Given the description of an element on the screen output the (x, y) to click on. 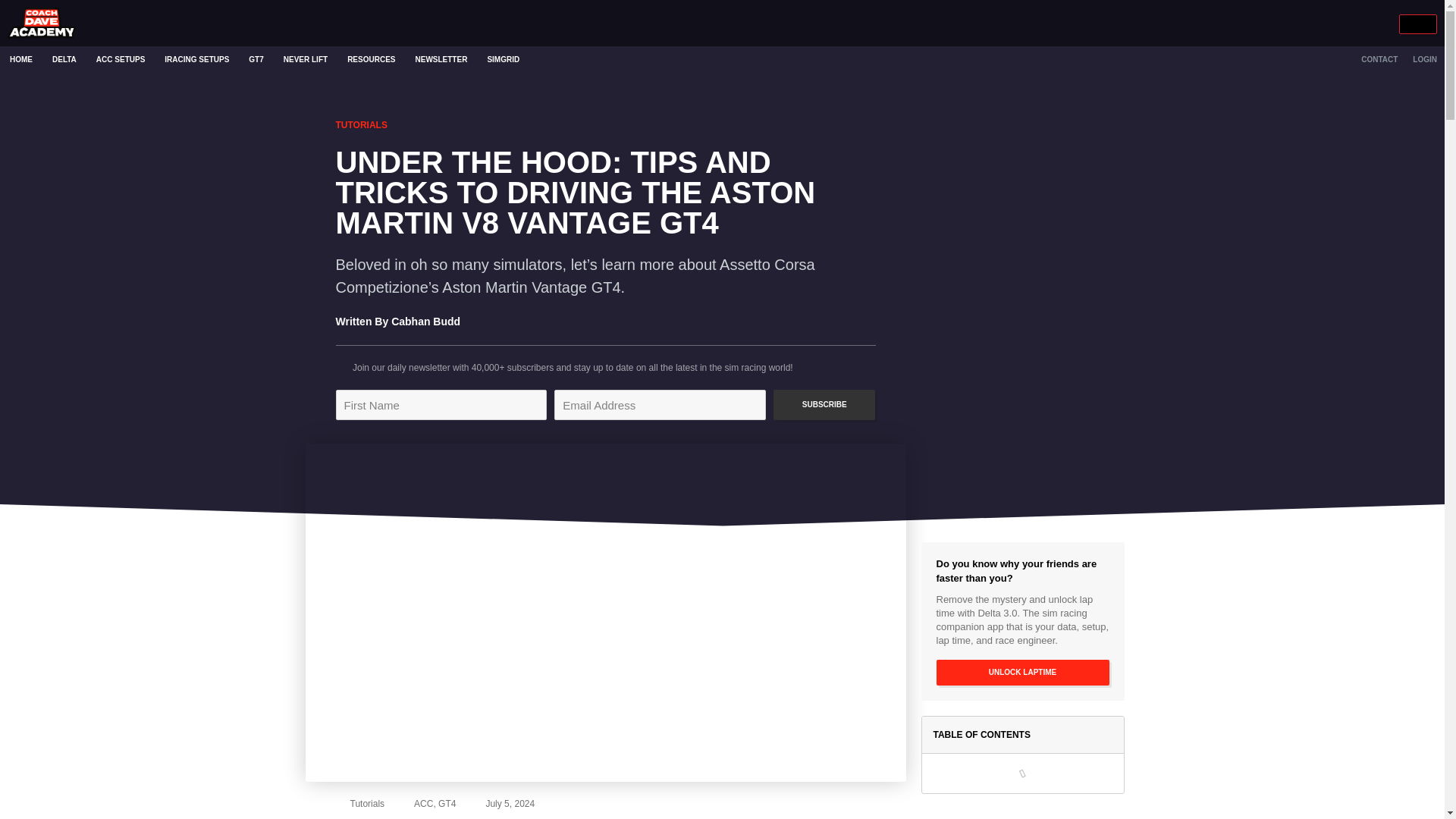
DELTA (63, 58)
HOME (21, 58)
ACC SETUPS (119, 58)
